Given the description of an element on the screen output the (x, y) to click on. 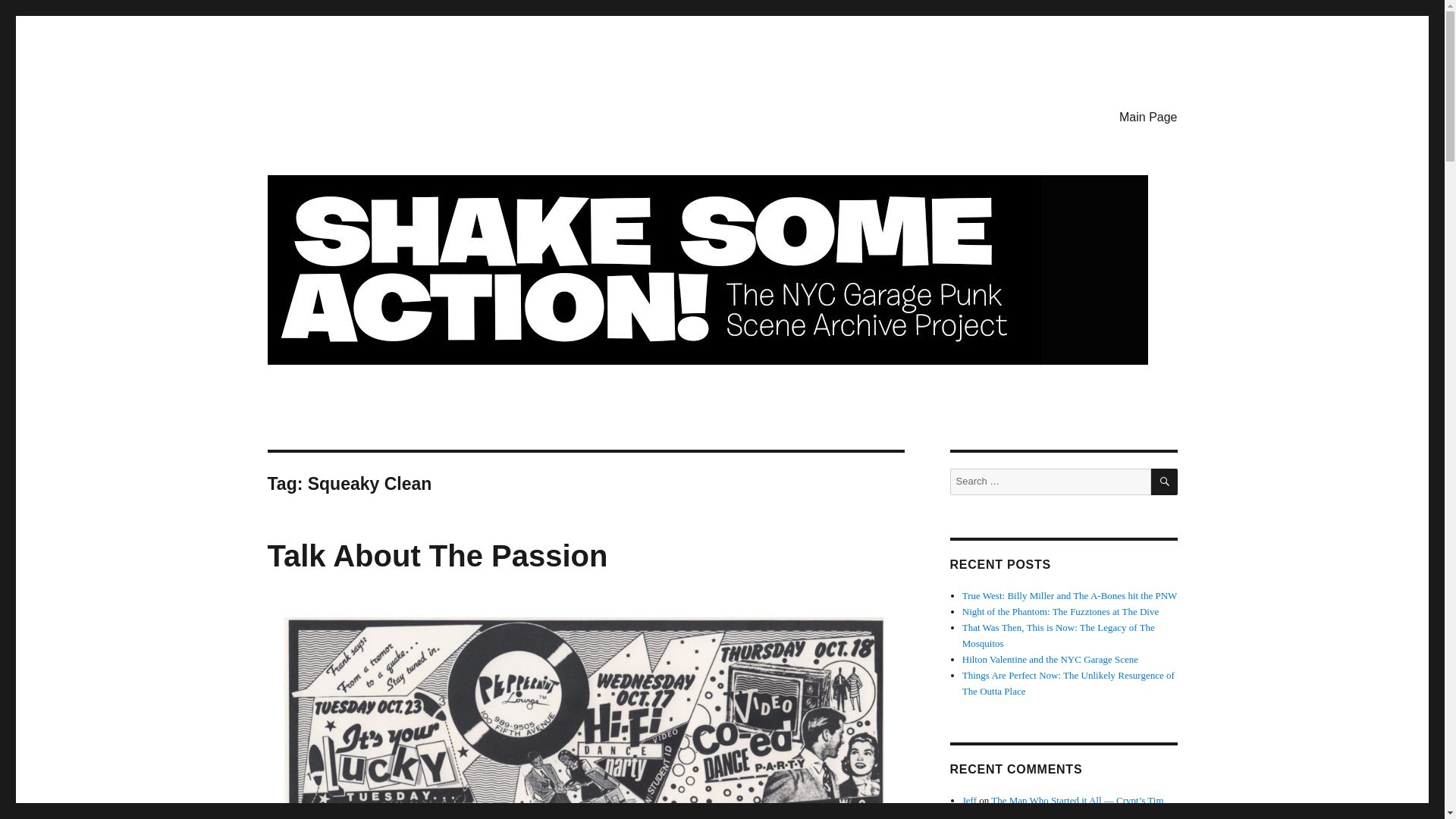
That Was Then, This is Now: The Legacy of The Mosquitos (1058, 635)
SEARCH (1164, 481)
Jeff (969, 799)
Night of the Phantom: The Fuzztones at The Dive (1060, 611)
Hilton Valentine and the NYC Garage Scene (1050, 659)
Talk About The Passion (436, 555)
Main Page (1148, 116)
ShakeBlog (321, 114)
True West: Billy Miller and The A-Bones hit the PNW (1069, 595)
